Given the description of an element on the screen output the (x, y) to click on. 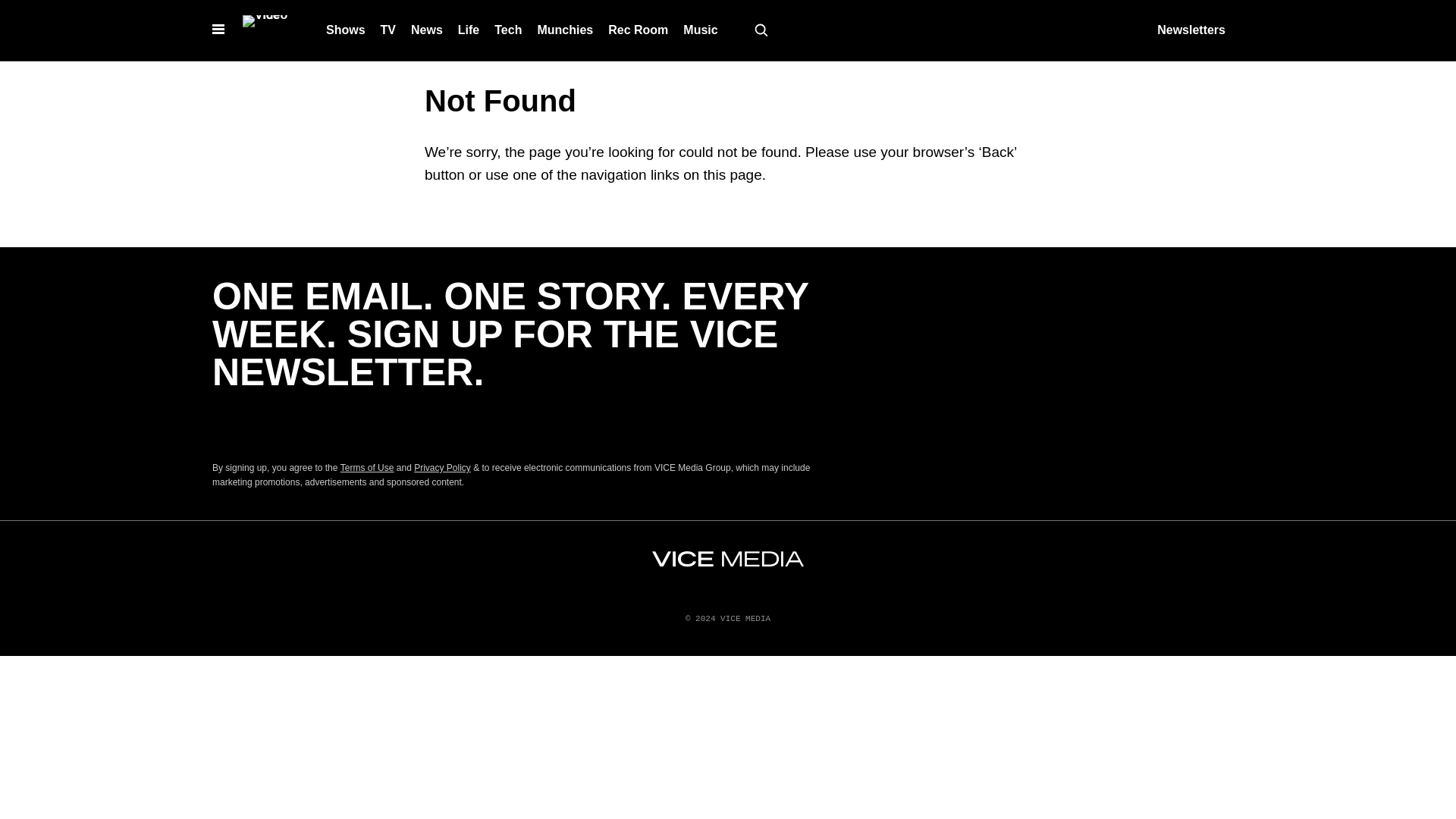
Terms of Use (367, 467)
Life (467, 29)
News (426, 29)
Newsletter Signup Form (515, 425)
Privacy Policy (441, 467)
Open Menu (217, 30)
VICE MEDIA (727, 559)
Music (700, 29)
TV (387, 29)
Shows (345, 29)
